Given the description of an element on the screen output the (x, y) to click on. 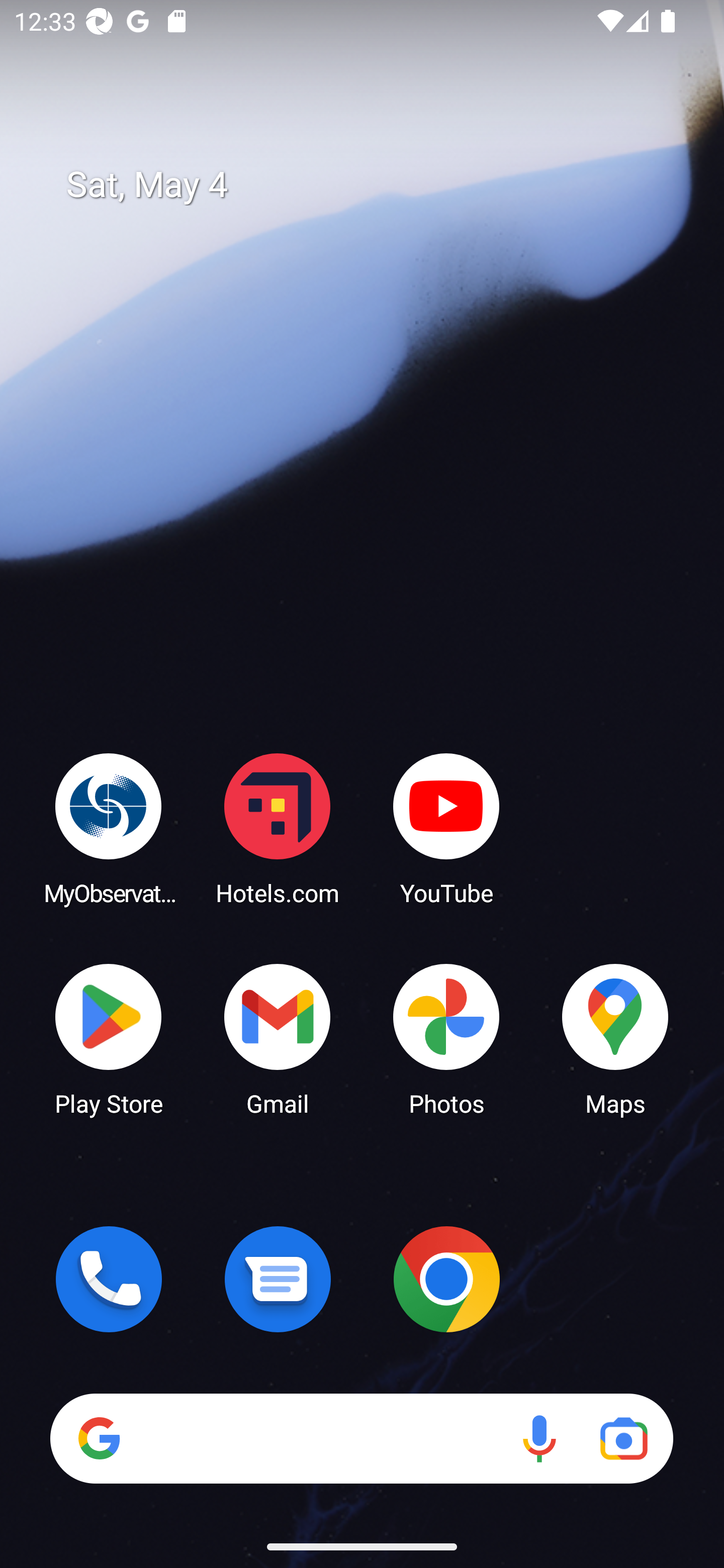
Sat, May 4 (375, 184)
MyObservatory (108, 828)
Hotels.com (277, 828)
YouTube (445, 828)
Play Store (108, 1038)
Gmail (277, 1038)
Photos (445, 1038)
Maps (615, 1038)
Phone (108, 1279)
Messages (277, 1279)
Chrome (446, 1279)
Search Voice search Google Lens (361, 1438)
Voice search (539, 1438)
Google Lens (623, 1438)
